Given the description of an element on the screen output the (x, y) to click on. 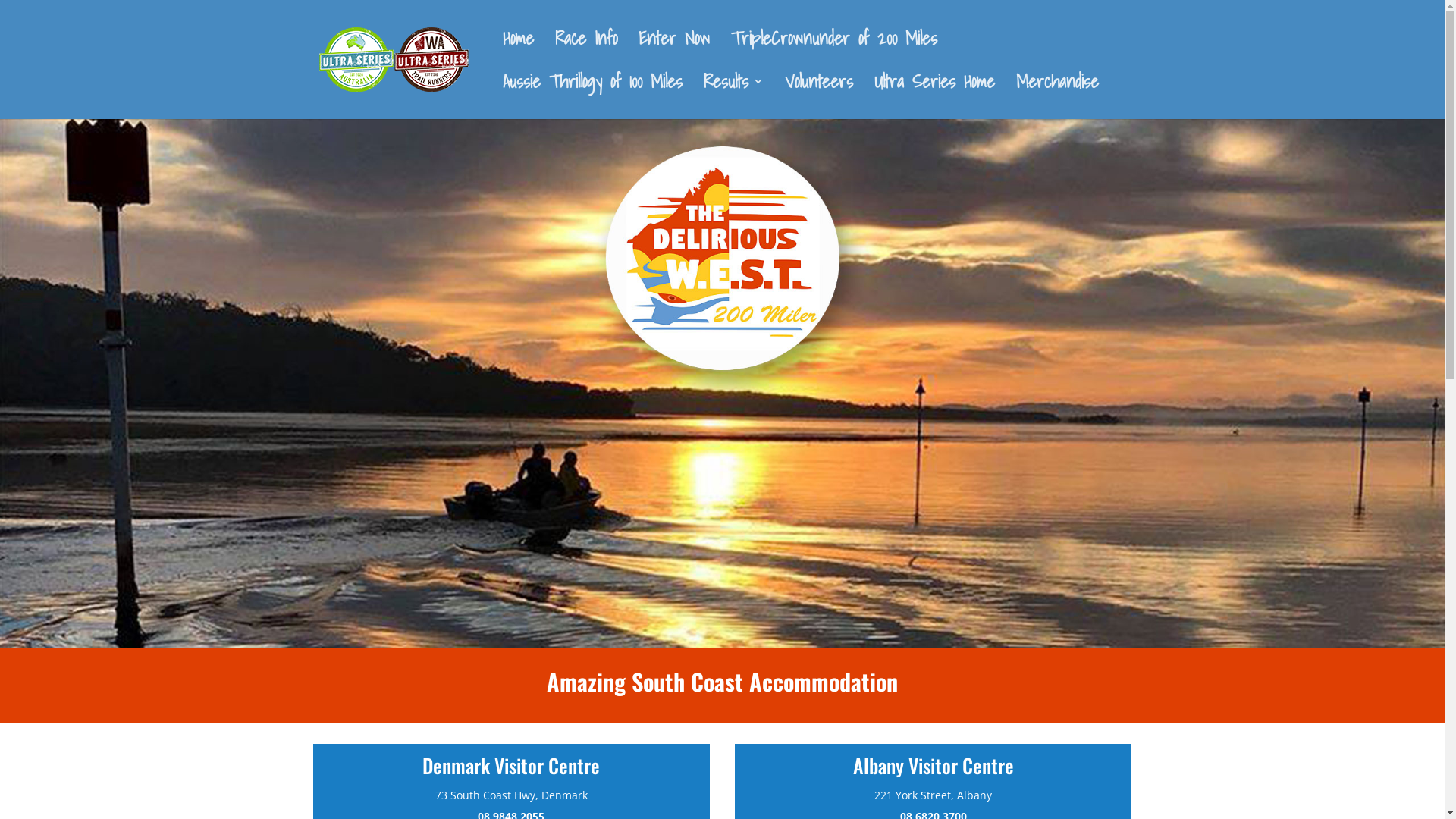
Ultra Series Home Element type: text (933, 97)
Race Info Element type: text (586, 53)
Enter Now Element type: text (673, 53)
Home Element type: text (517, 53)
Merchandise Element type: text (1057, 97)
Results Element type: text (733, 97)
Volunteers Element type: text (818, 97)
Aussie Thrillogy of 100 Miles Element type: text (591, 97)
TripleCrownunder of 200 Miles Element type: text (834, 53)
